Given the description of an element on the screen output the (x, y) to click on. 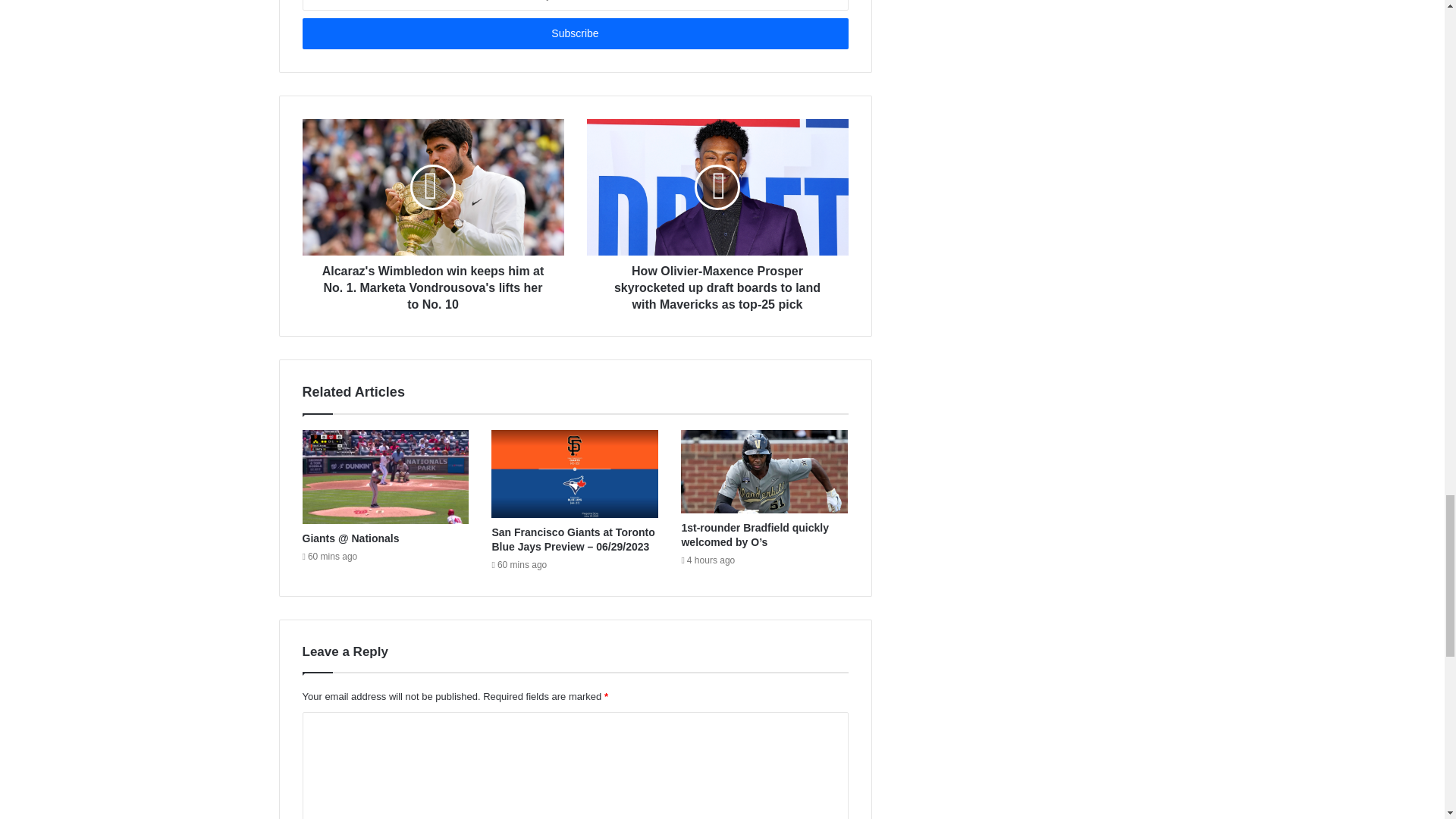
Subscribe (574, 33)
